Given the description of an element on the screen output the (x, y) to click on. 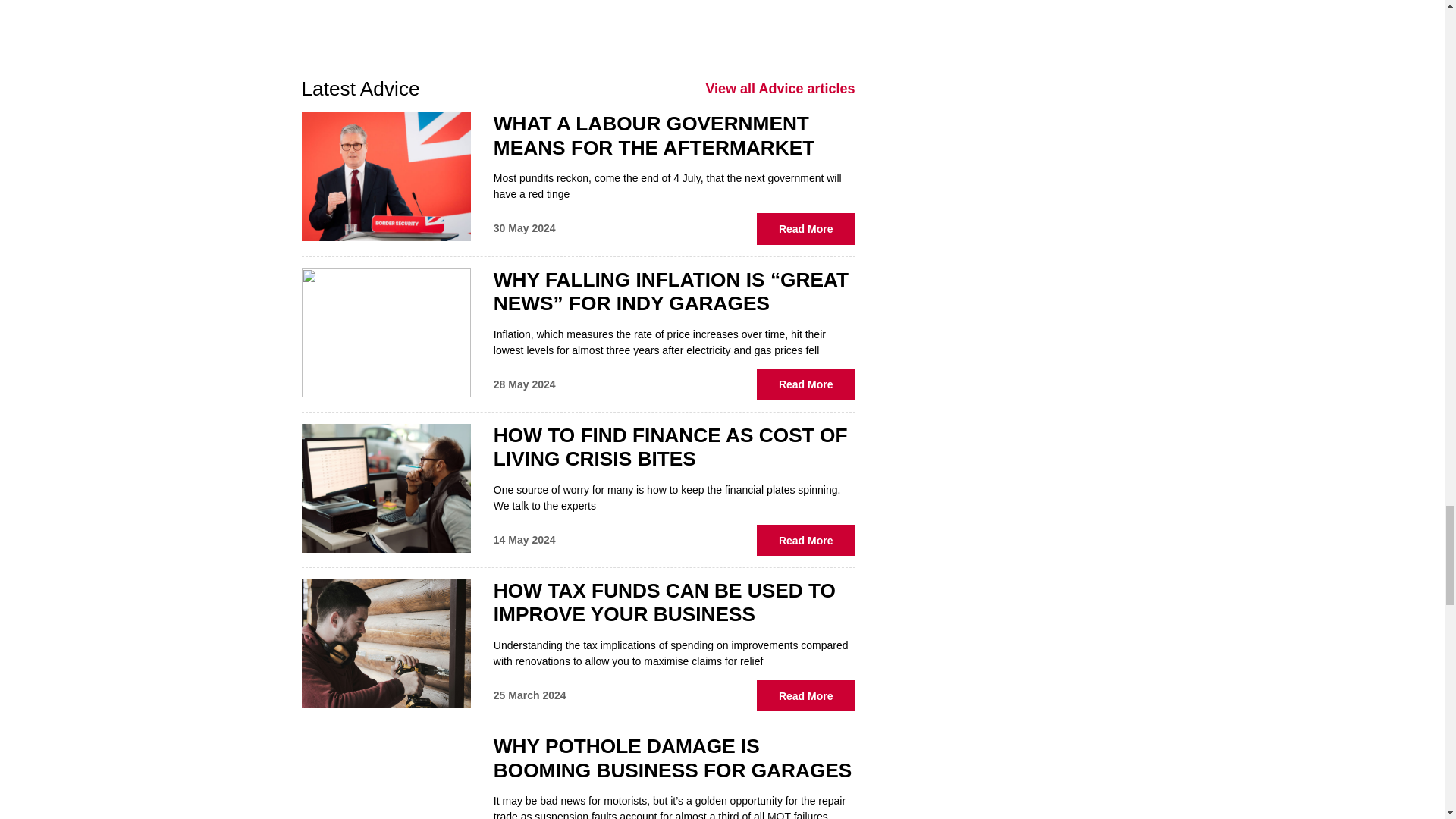
Read More (806, 384)
WHAT A LABOUR GOVERNMENT MEANS FOR THE AFTERMARKET (653, 135)
Read More (806, 540)
Advice (779, 88)
Read More (806, 695)
View all Advice articles (779, 88)
HOW TAX FUNDS CAN BE USED TO IMPROVE YOUR BUSINESS (664, 602)
HOW TO FIND FINANCE AS COST OF LIVING CRISIS BITES (670, 447)
Read More (806, 228)
WHY POTHOLE DAMAGE IS BOOMING BUSINESS FOR GARAGES (672, 758)
